Given the description of an element on the screen output the (x, y) to click on. 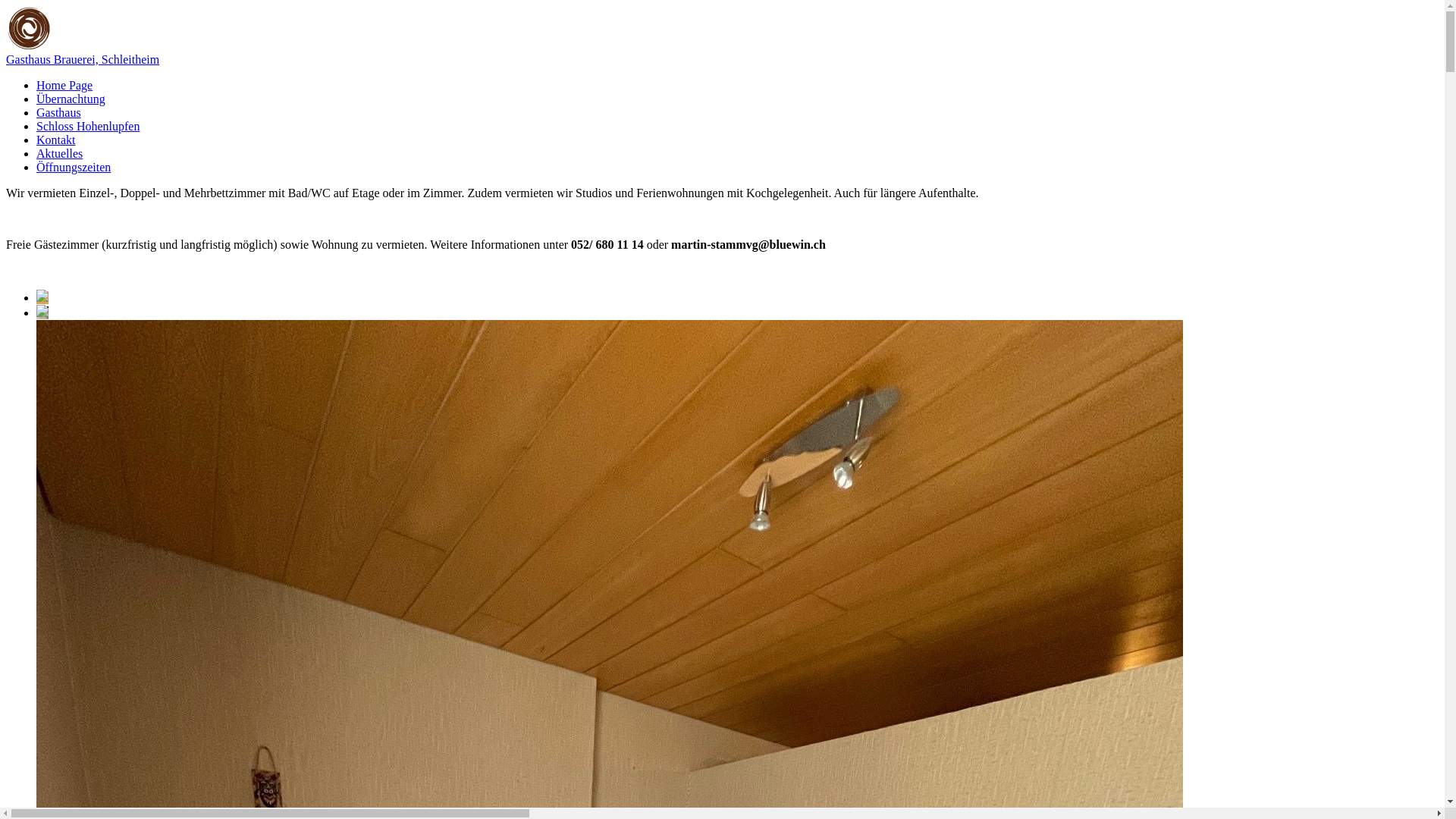
Kontakt Element type: text (55, 139)
Gasthaus Brauerei, Schleitheim Element type: text (82, 59)
Aktuelles Element type: text (59, 153)
Schloss Hohenlupfen Element type: text (87, 125)
Gasthaus Element type: text (58, 112)
Home Page Element type: text (64, 84)
